Given the description of an element on the screen output the (x, y) to click on. 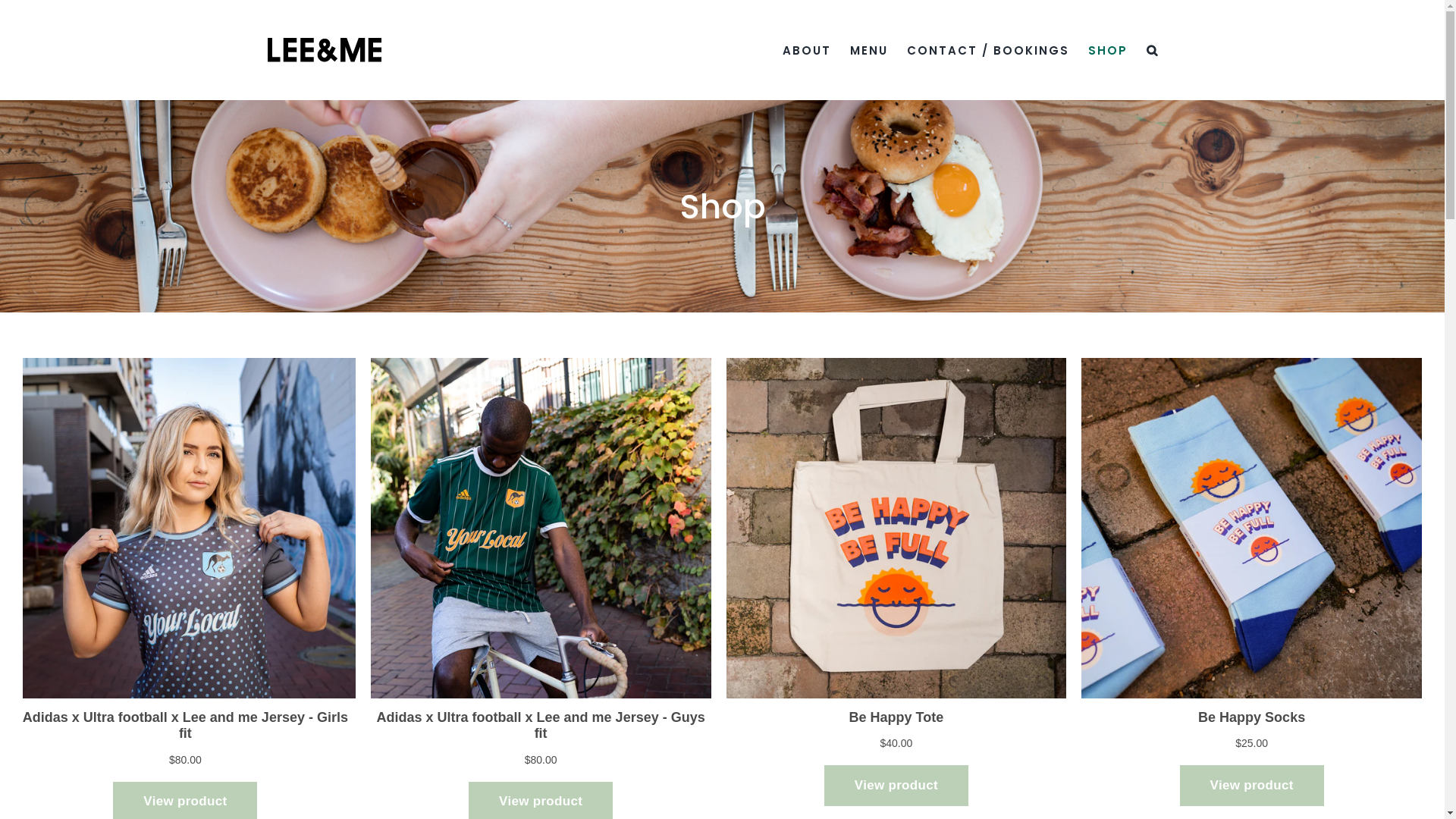
SHOP Element type: text (1106, 50)
ABOUT Element type: text (806, 50)
MENU Element type: text (868, 50)
Search Element type: hover (1152, 50)
CONTACT / BOOKINGS Element type: text (987, 50)
